Given the description of an element on the screen output the (x, y) to click on. 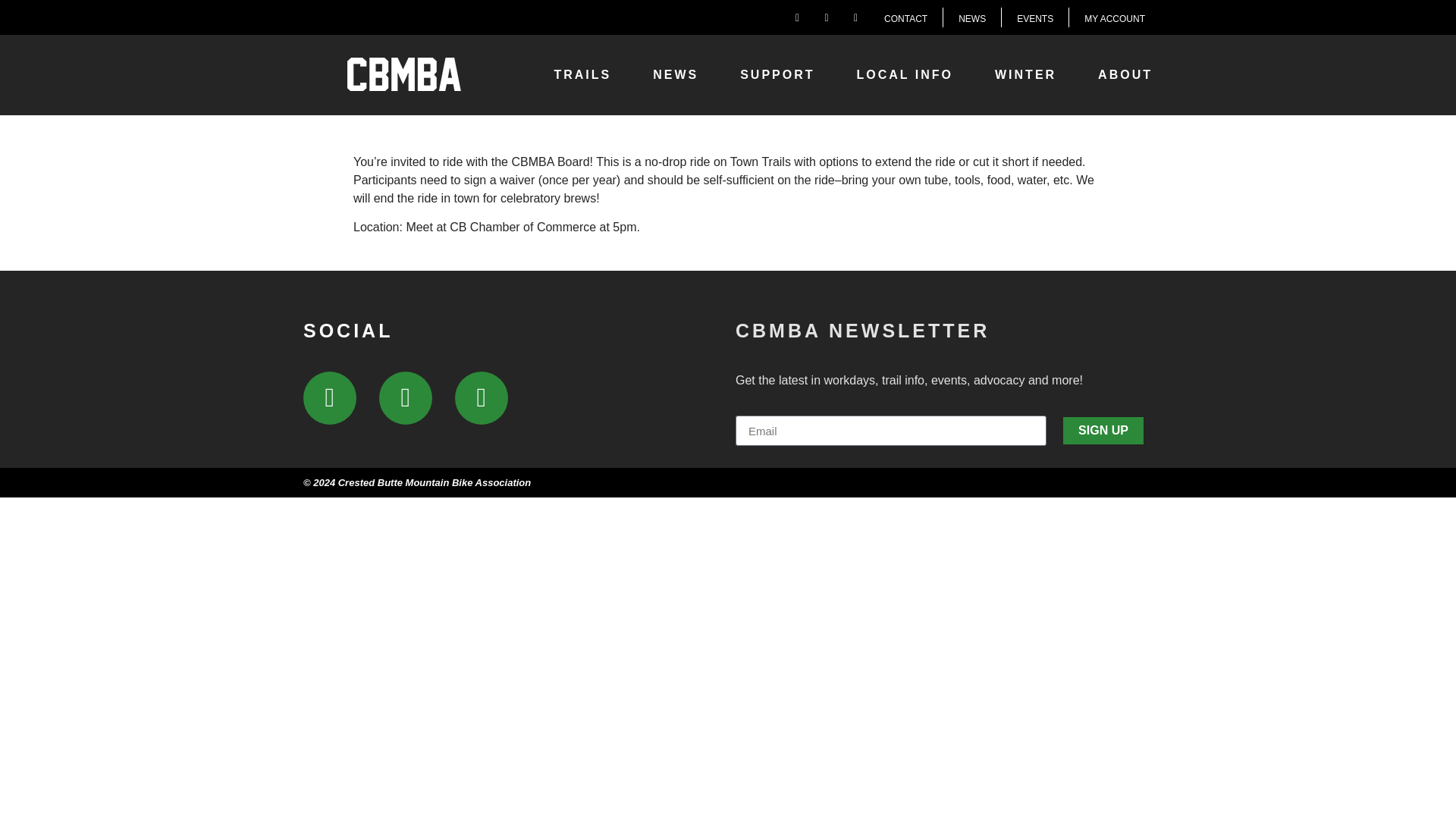
TRAILS (585, 74)
WINTER (1029, 74)
ABOUT (1128, 74)
LOCAL INFO (908, 74)
MY ACCOUNT (1114, 17)
NEWS (679, 74)
NEWS (972, 17)
CONTACT (906, 17)
SUPPORT (780, 74)
EVENTS (1034, 17)
